Given the description of an element on the screen output the (x, y) to click on. 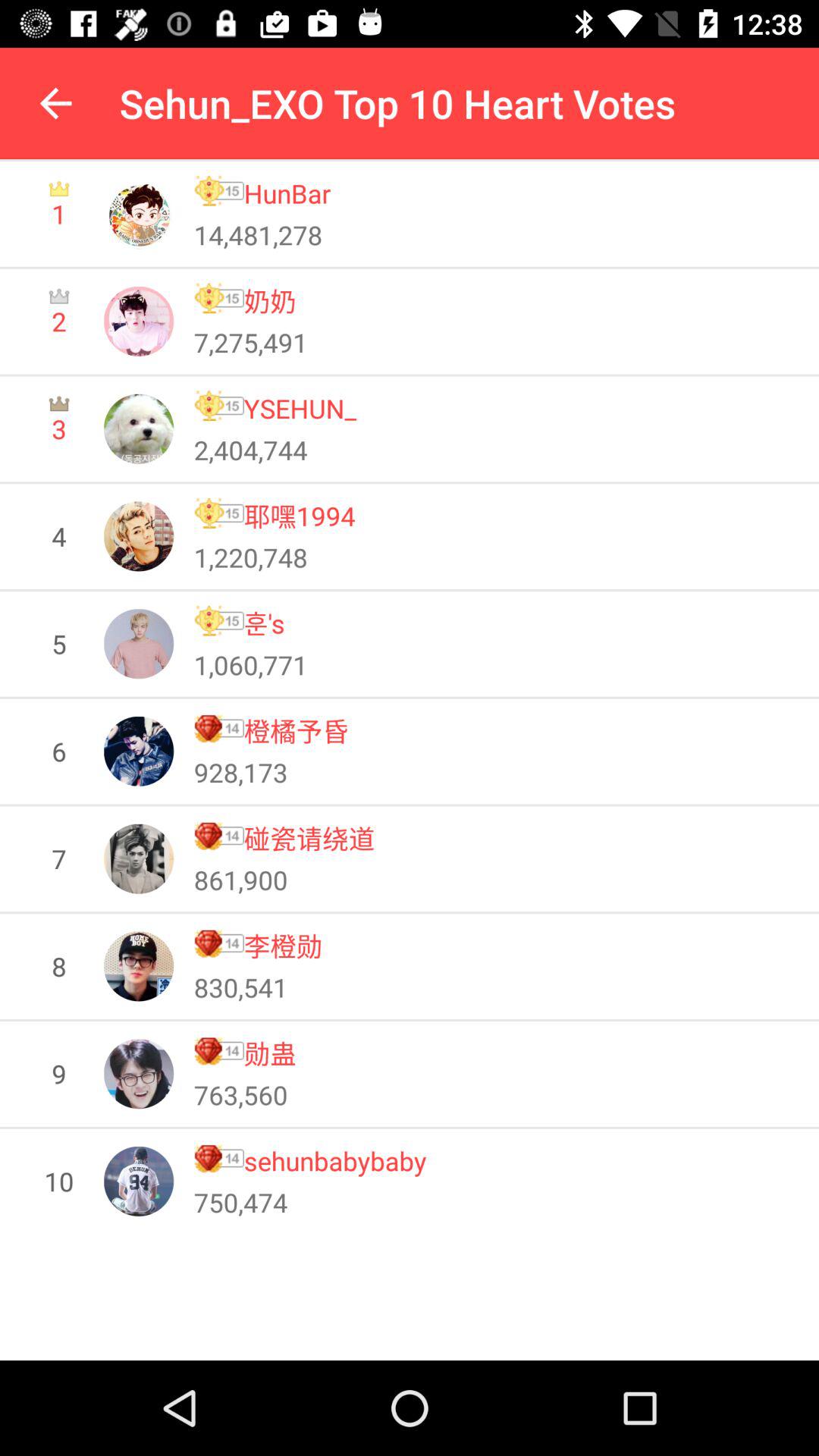
open the item above 830,541 (282, 945)
